Given the description of an element on the screen output the (x, y) to click on. 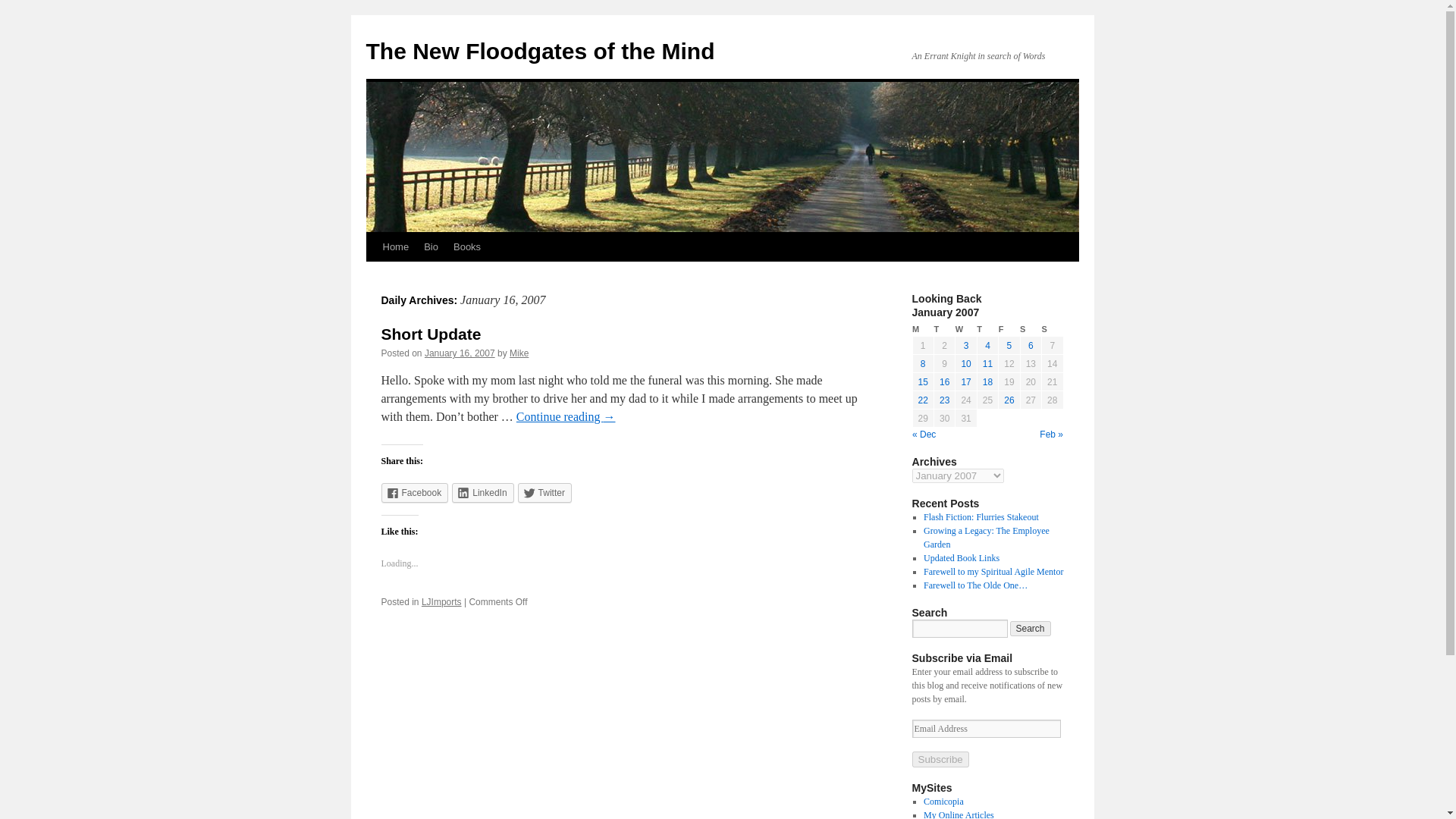
Mike (518, 353)
23 (944, 399)
View all posts by Mike (518, 353)
LJImports (441, 602)
Updated Book Links (960, 557)
The New Floodgates of the Mind (539, 50)
26 (1008, 399)
January 16, 2007 (460, 353)
Books (466, 246)
Subscribe (939, 759)
